Given the description of an element on the screen output the (x, y) to click on. 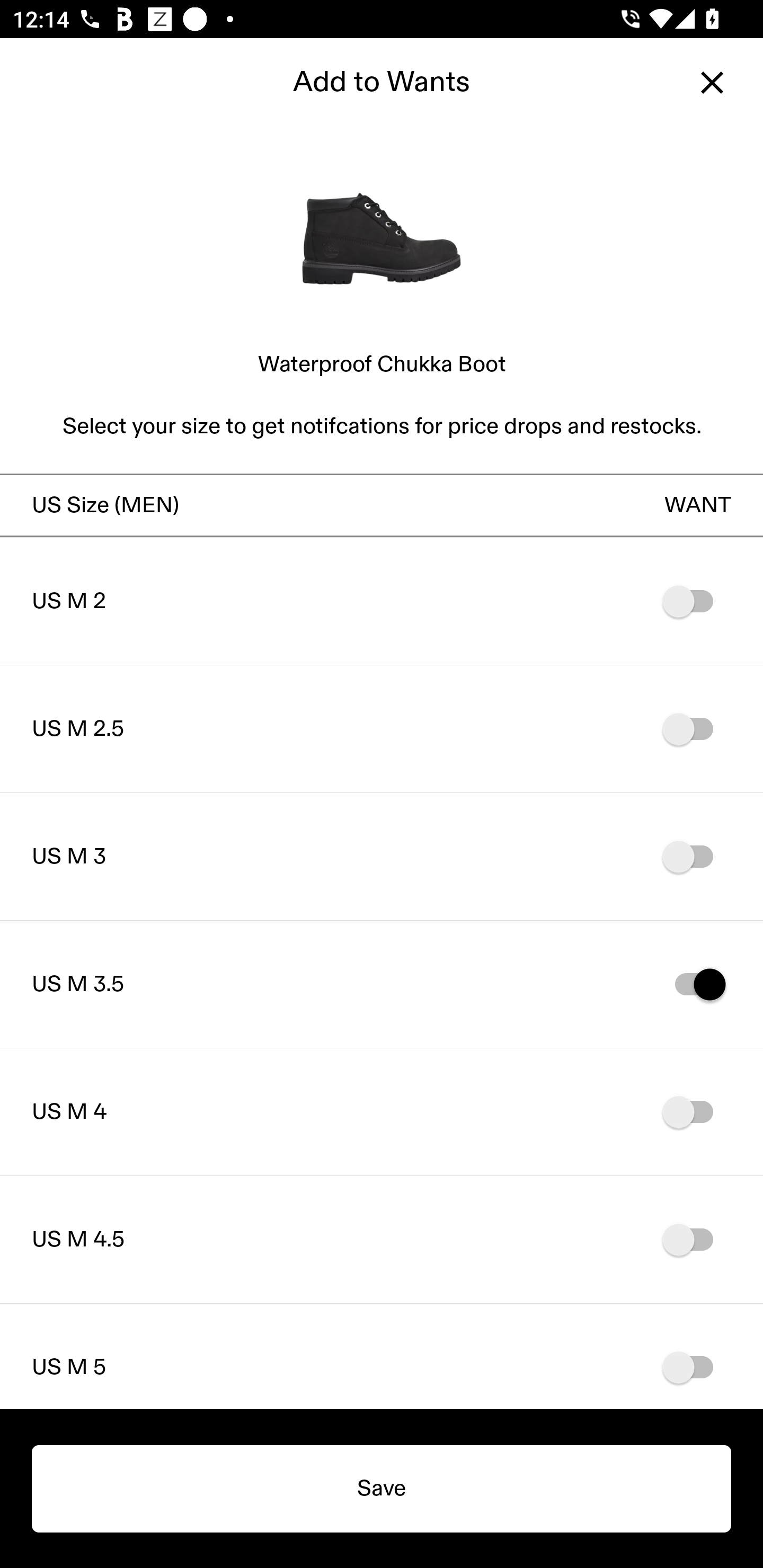
Save (381, 1488)
